Given the description of an element on the screen output the (x, y) to click on. 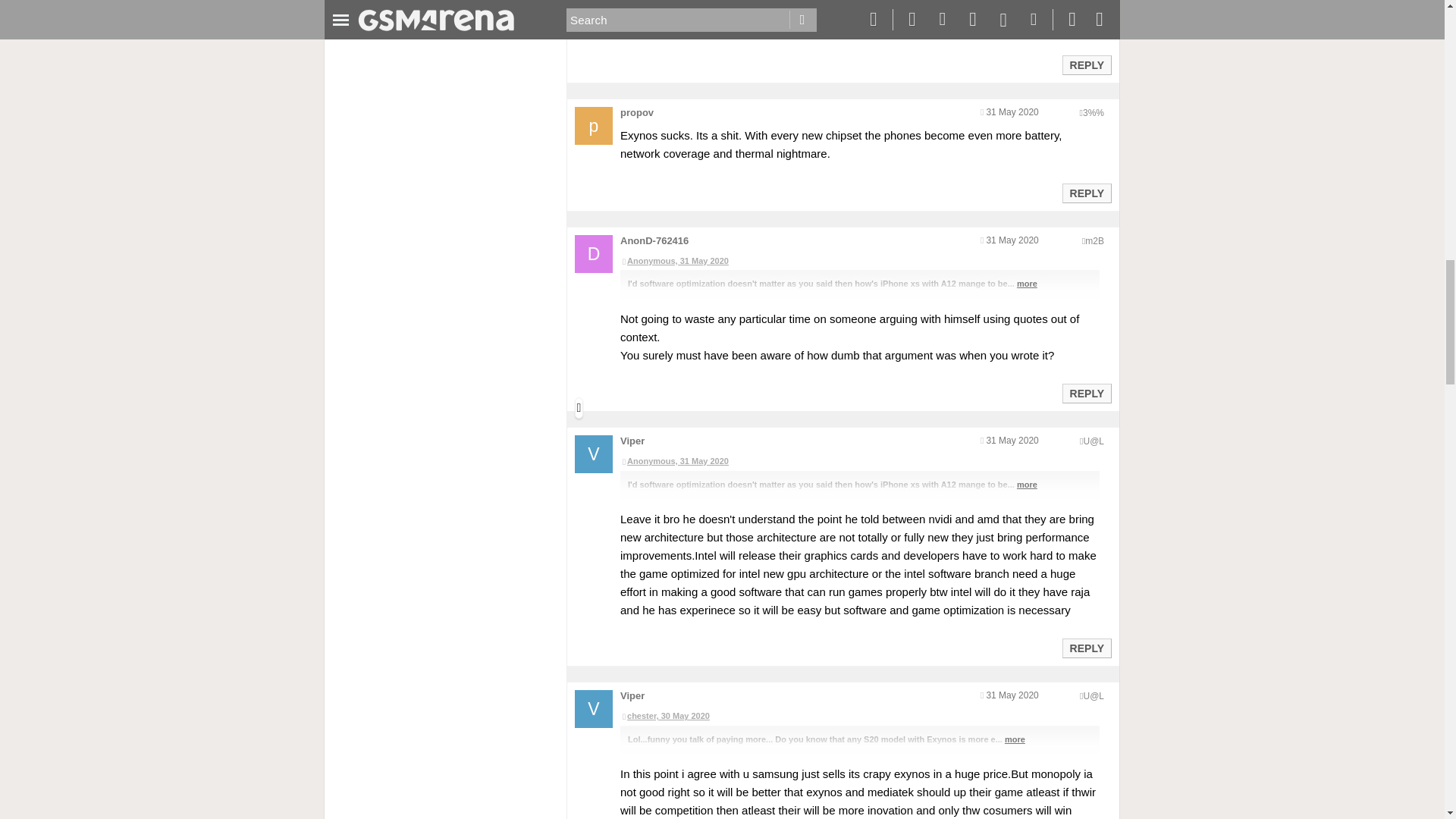
Encoded anonymized location (1093, 696)
Reply to this post (1086, 648)
Encoded anonymized location (1093, 112)
Encoded anonymized location (1093, 240)
Encoded anonymized location (1093, 440)
Reply to this post (1086, 393)
Reply to this post (1086, 64)
Reply to this post (1086, 193)
